Given the description of an element on the screen output the (x, y) to click on. 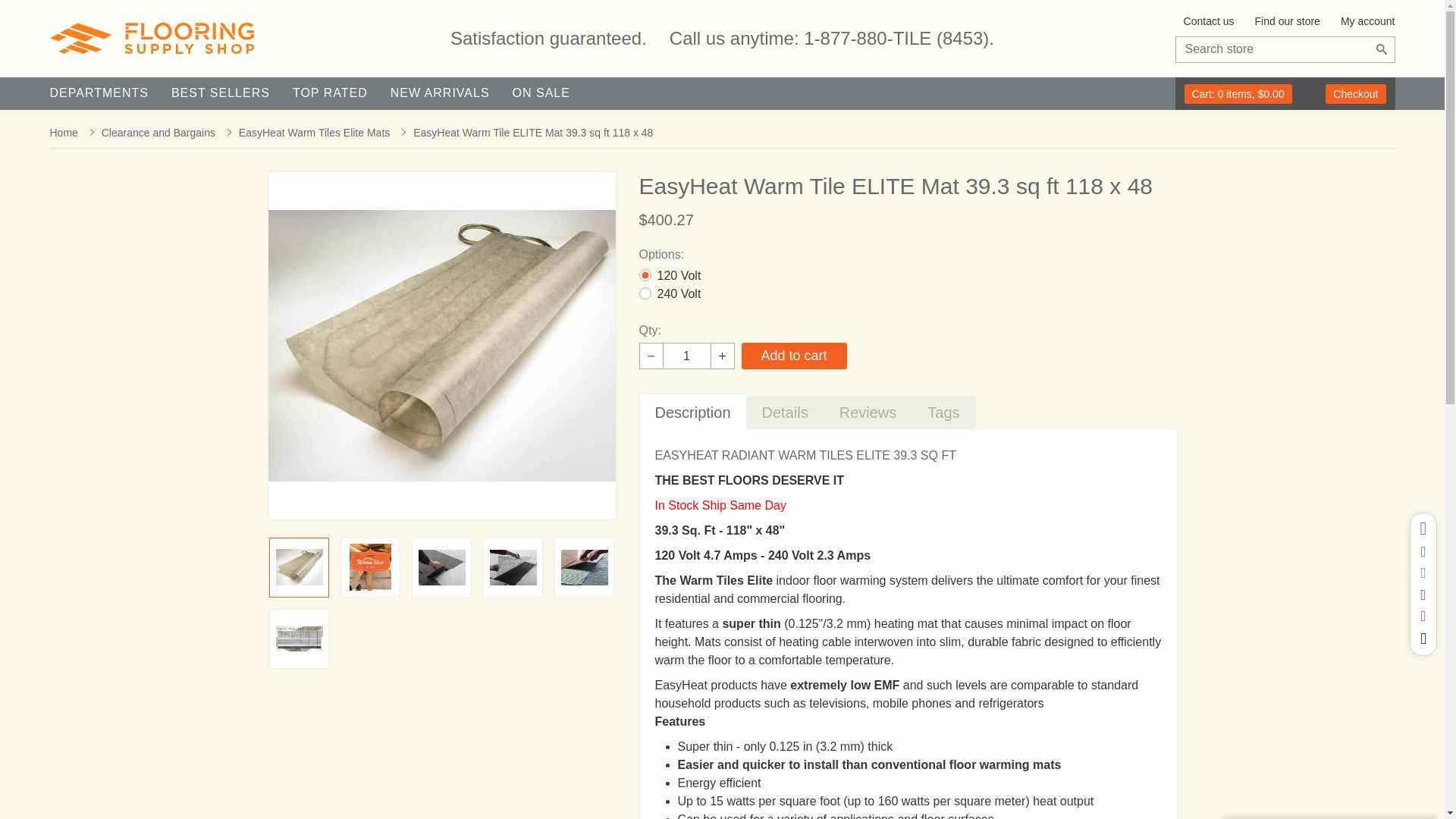
1 (686, 355)
